Given the description of an element on the screen output the (x, y) to click on. 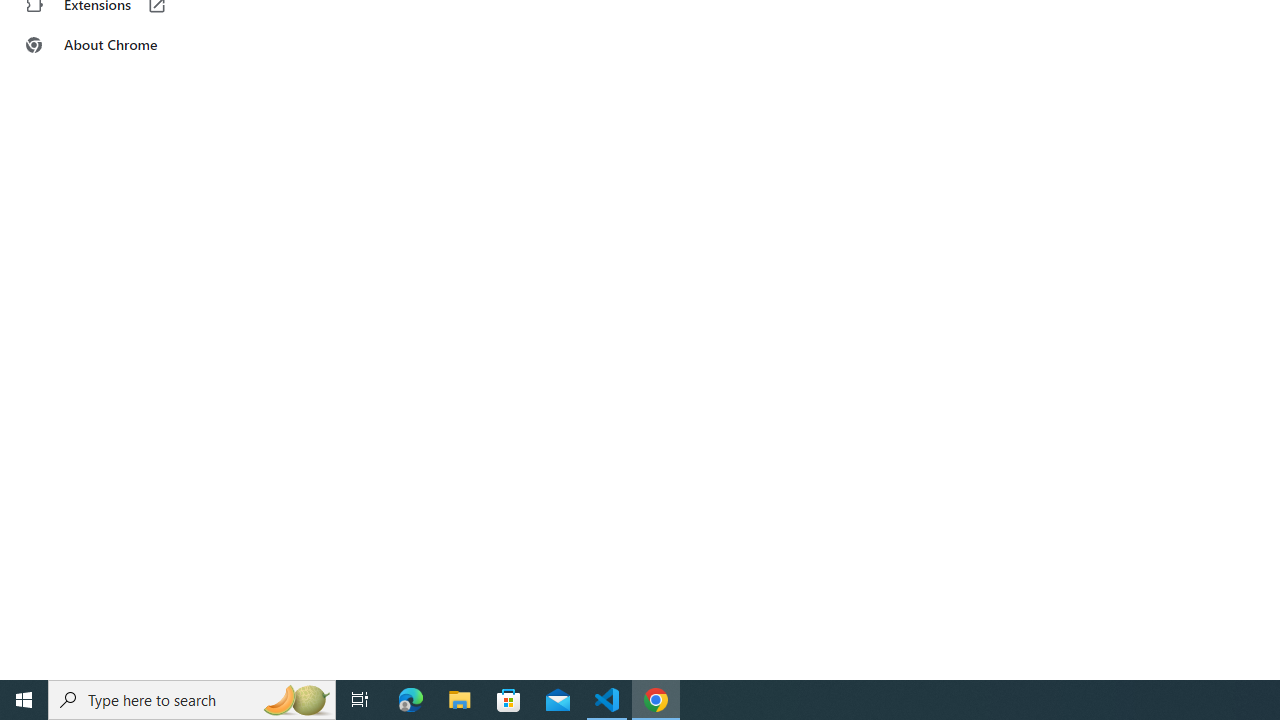
About Chrome (124, 44)
